Given the description of an element on the screen output the (x, y) to click on. 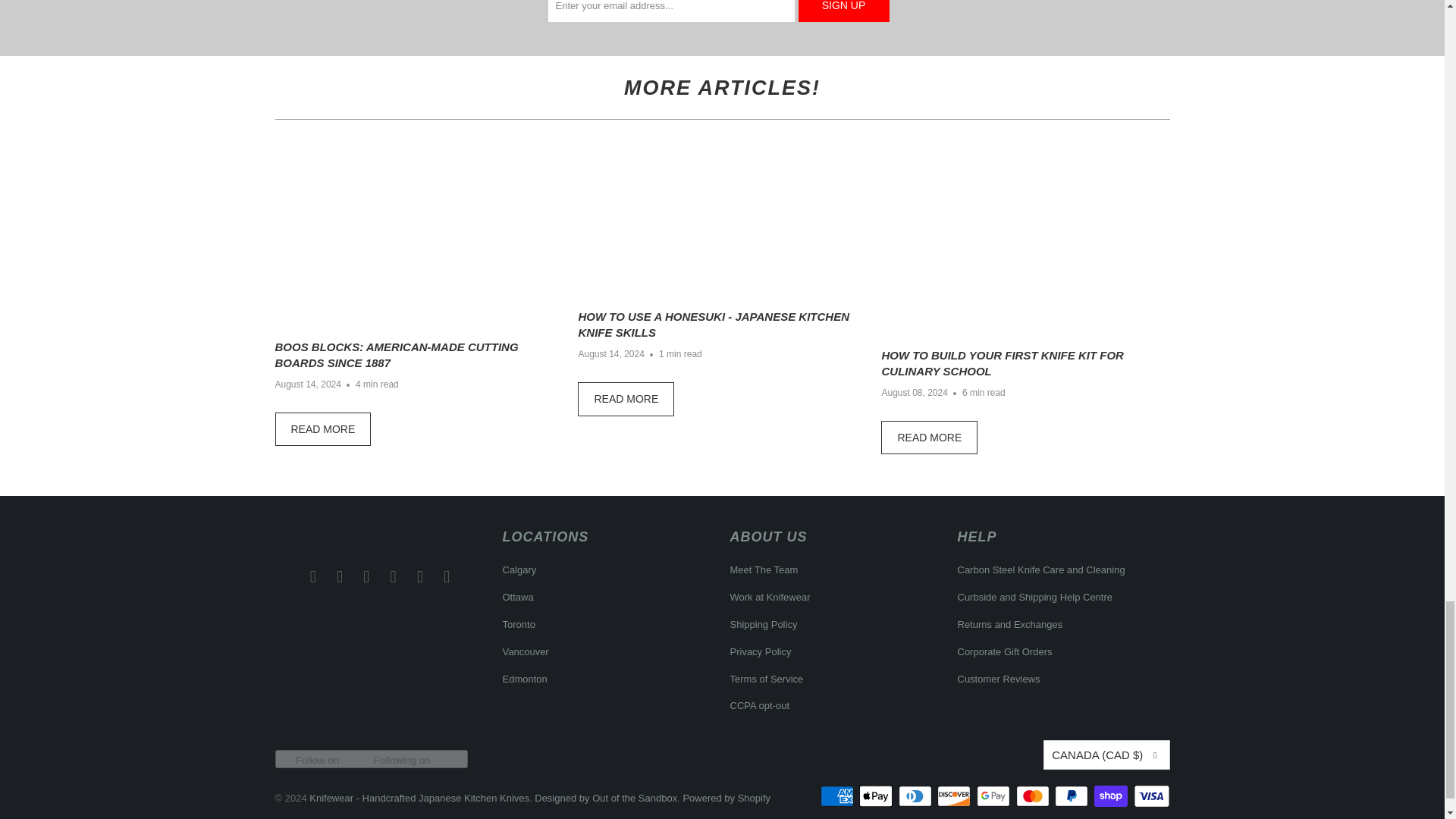
Google Pay (994, 795)
How to Build Your First Knife Kit for Culinary School (928, 437)
Mastercard (1034, 795)
Boos Blocks: American-made Cutting Boards Since 1887 (323, 429)
How to Use a Honesuki - Japanese Kitchen Knife Skills (626, 399)
Visa (1150, 795)
Diners Club (916, 795)
Discover (955, 795)
Shop Pay (1112, 795)
American Express (839, 795)
